Given the description of an element on the screen output the (x, y) to click on. 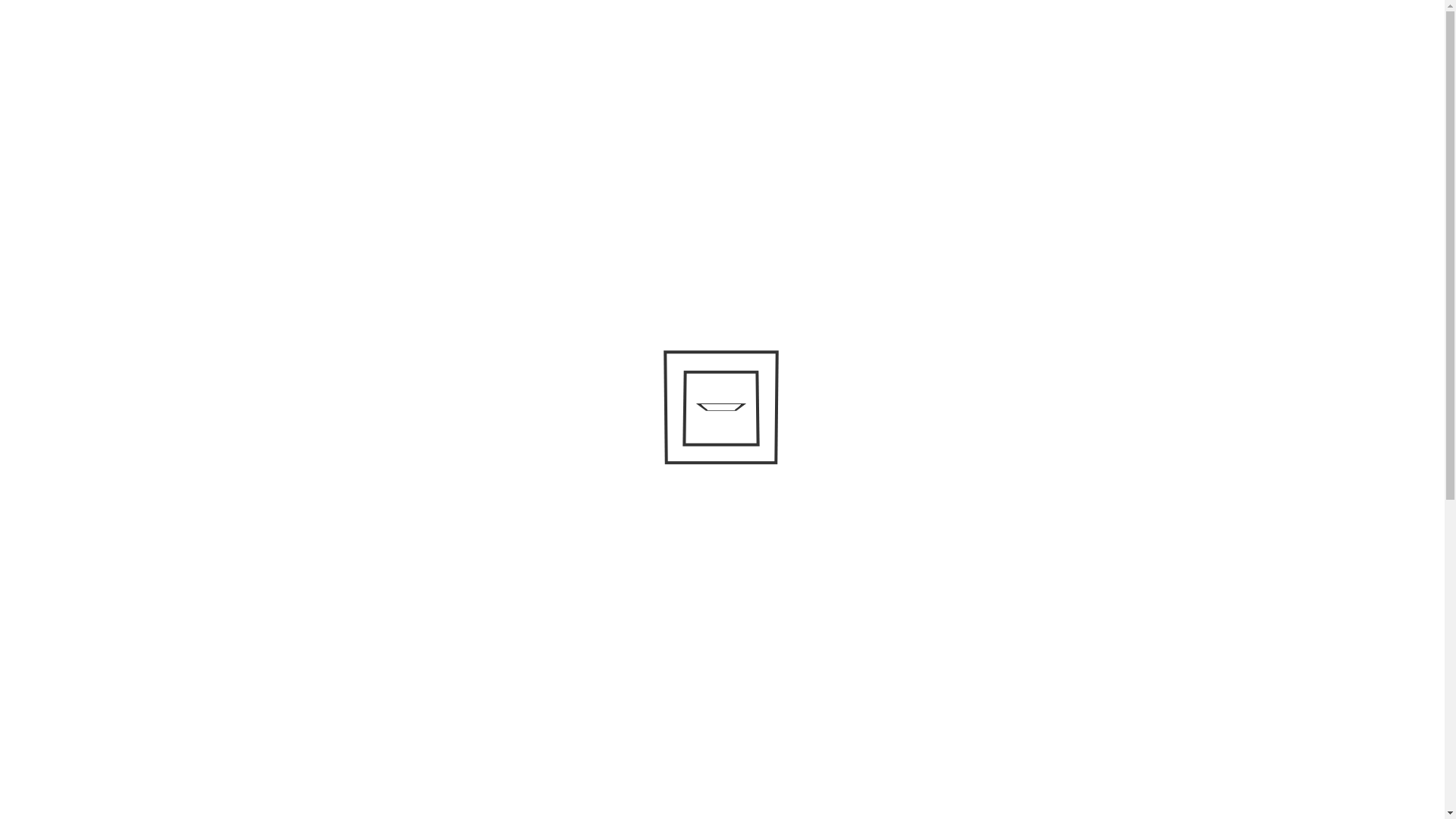
HOME Element type: text (525, 189)
0 Element type: text (398, 677)
Dunkelbunt Element type: text (699, 97)
FOTOGRAFIE Element type: text (690, 189)
VIDEO Element type: text (621, 189)
Suche Element type: text (645, 37)
5. NOVEMBER 2020 Element type: text (330, 677)
Skip to content Element type: text (266, 42)
SCHWEIZ Element type: text (393, 263)
TEXT Element type: text (573, 189)
MUSIK Element type: text (761, 189)
Digital Marketing: Darauf kommt es an Element type: text (389, 620)
TEXT Element type: text (337, 263)
9. OKTOBER 2020 Element type: text (628, 677)
HOME Element type: text (293, 263)
0 Element type: text (694, 677)
